Given the description of an element on the screen output the (x, y) to click on. 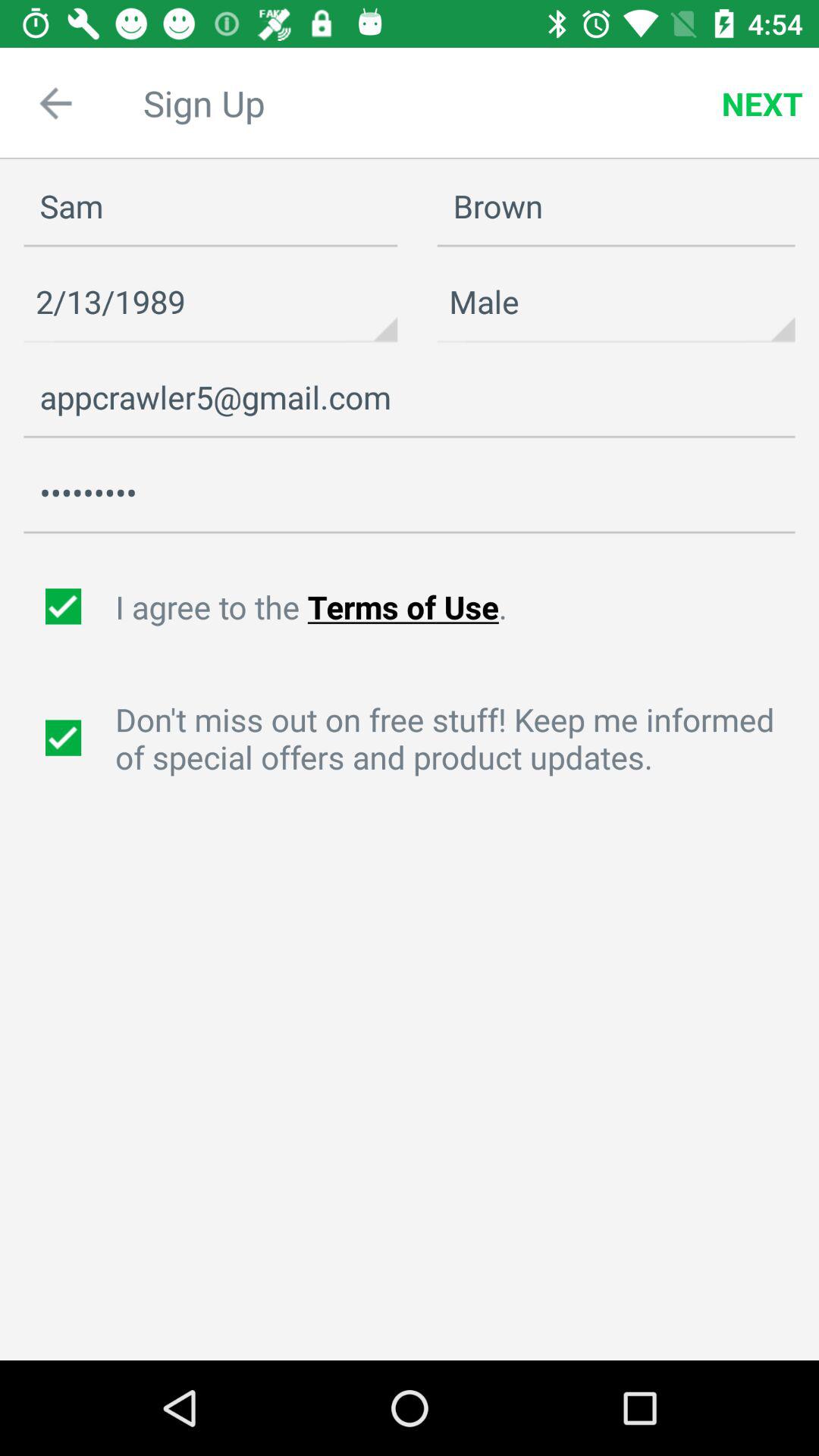
turn on the icon next to the sign up icon (55, 103)
